Given the description of an element on the screen output the (x, y) to click on. 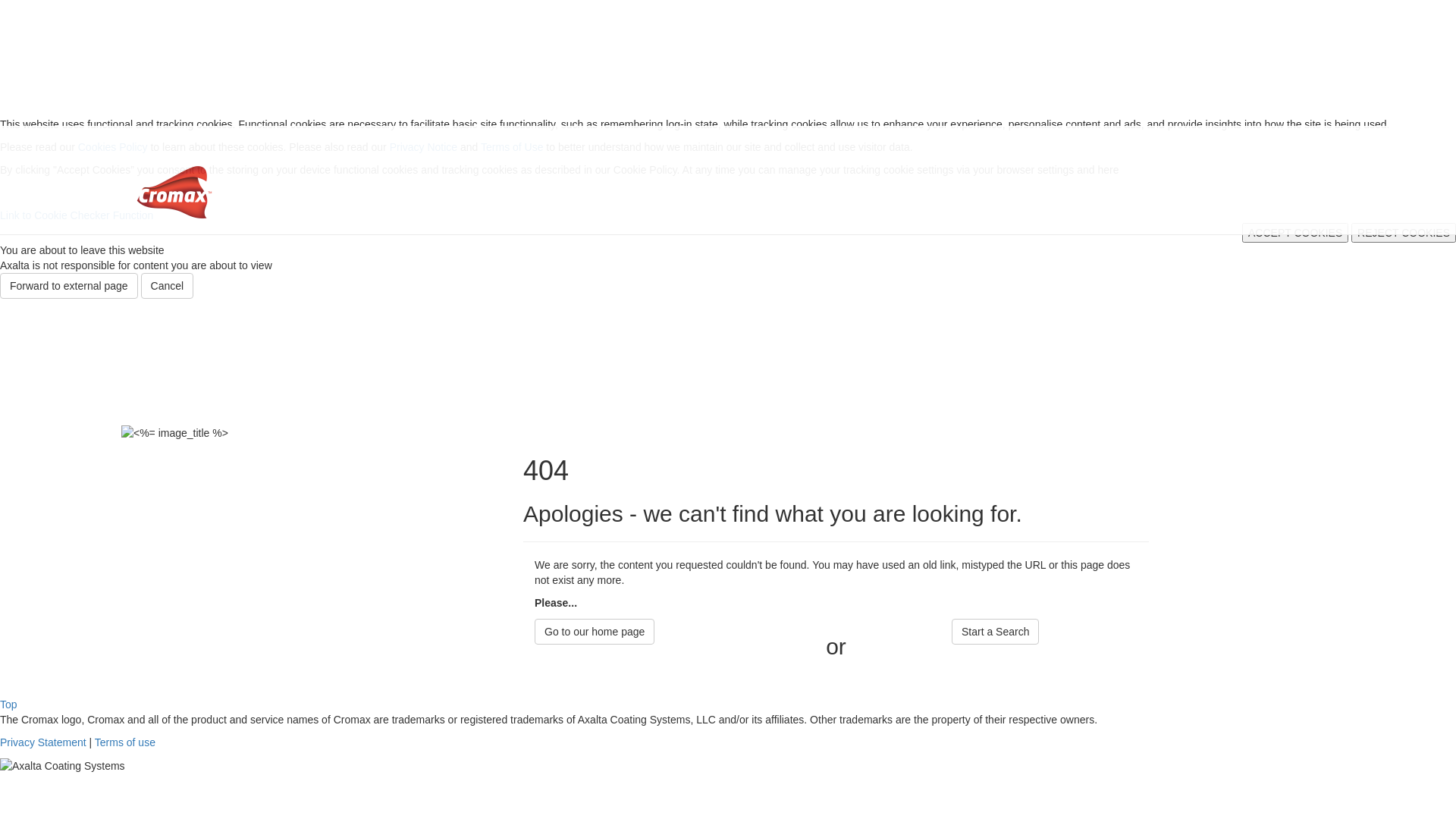
Cancel Element type: text (167, 285)
Privacy Notice Element type: text (423, 147)
Cookies Policy Element type: text (112, 147)
Terms of Use Element type: text (511, 147)
Go to our home page Element type: text (594, 631)
ACCEPT COOKIES Element type: text (1295, 232)
Link to Cookie Checker Function Element type: text (76, 215)
Start a Search Element type: text (995, 631)
Forward to external page Element type: text (69, 285)
Terms of use Element type: text (124, 742)
Top Element type: text (8, 704)
Privacy Statement Element type: text (43, 742)
